Given the description of an element on the screen output the (x, y) to click on. 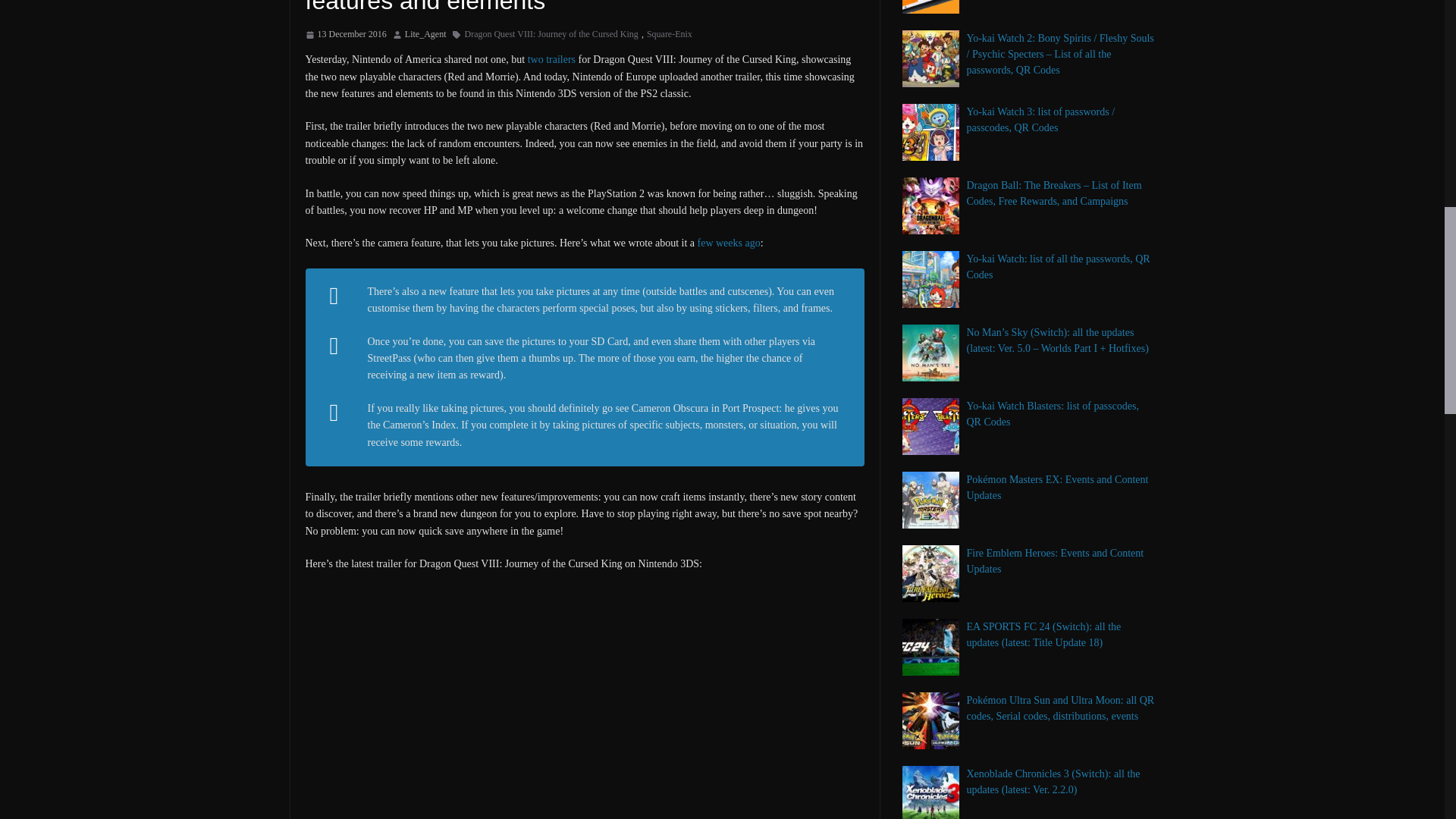
18 h 15 min (344, 34)
